Given the description of an element on the screen output the (x, y) to click on. 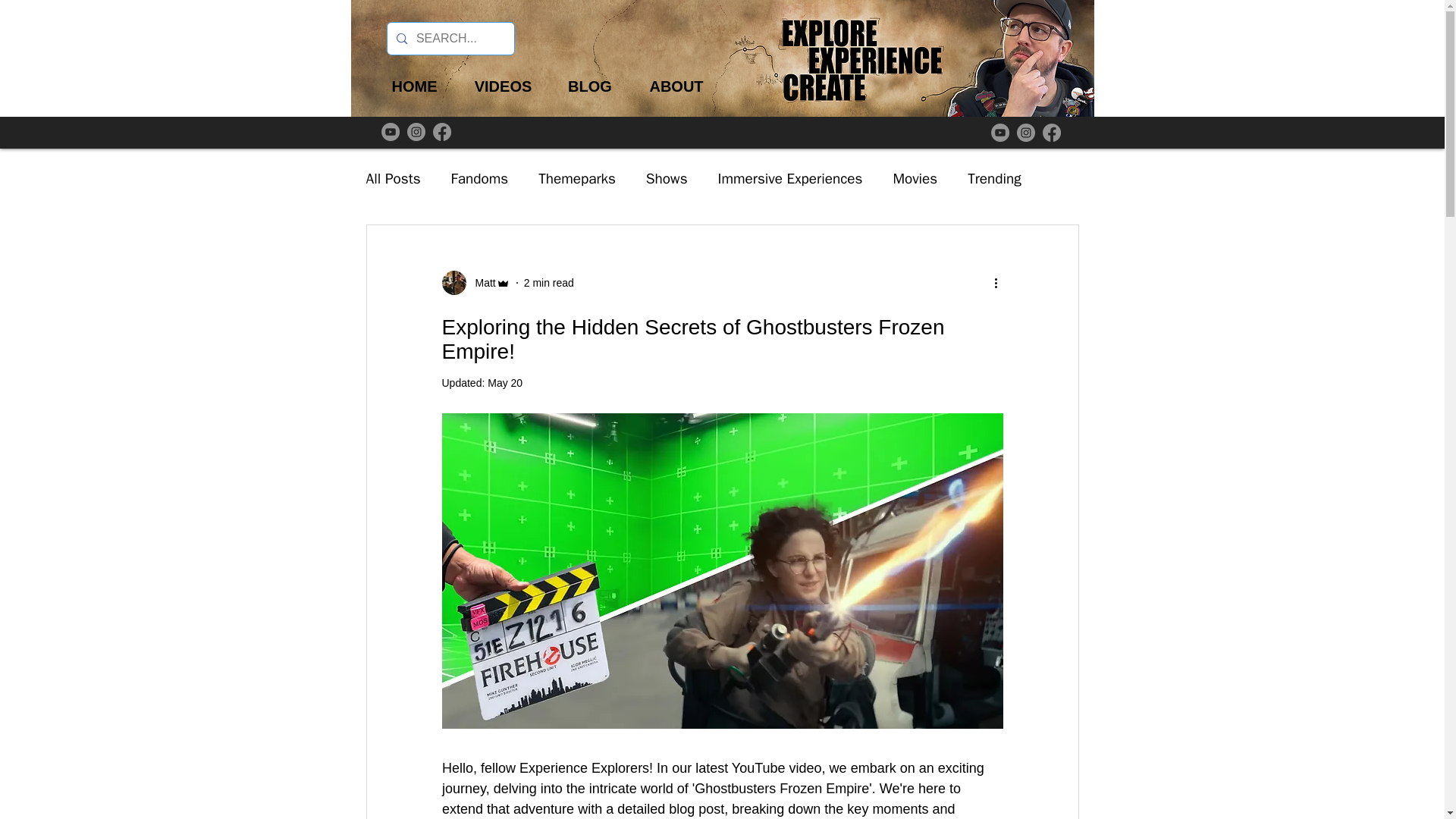
Immersive Experiences (790, 178)
HOME (414, 86)
Shows (666, 178)
VIDEOS (502, 86)
Fandoms (479, 178)
May 20 (504, 382)
Matt (475, 282)
BLOG (589, 86)
Movies (914, 178)
Themeparks (576, 178)
